Given the description of an element on the screen output the (x, y) to click on. 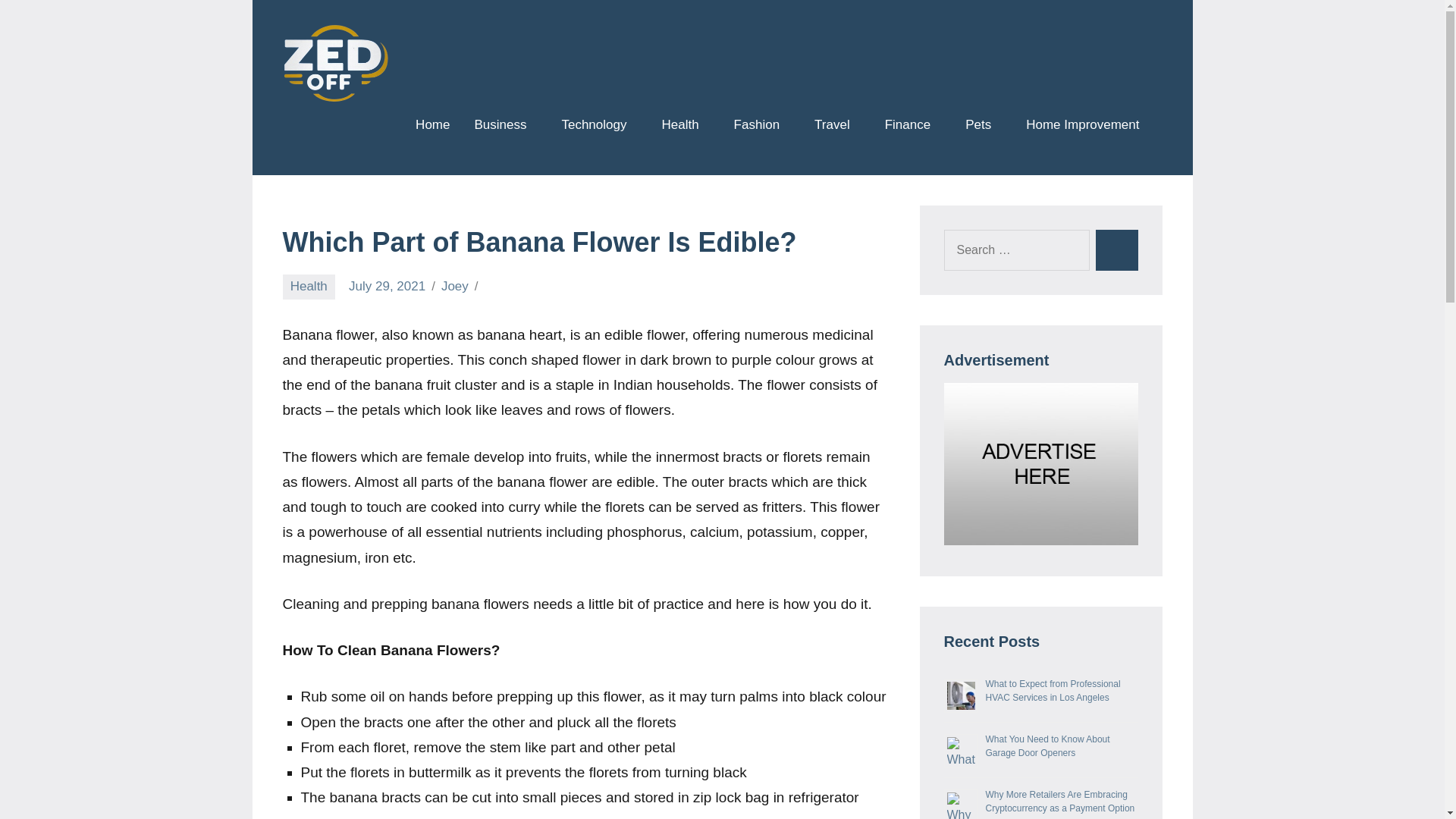
Home (431, 125)
 Banner 300x250 (1040, 463)
Health (685, 125)
View all posts by Joey (454, 286)
Business (505, 125)
Search for: (1016, 250)
Technology (598, 125)
